Given the description of an element on the screen output the (x, y) to click on. 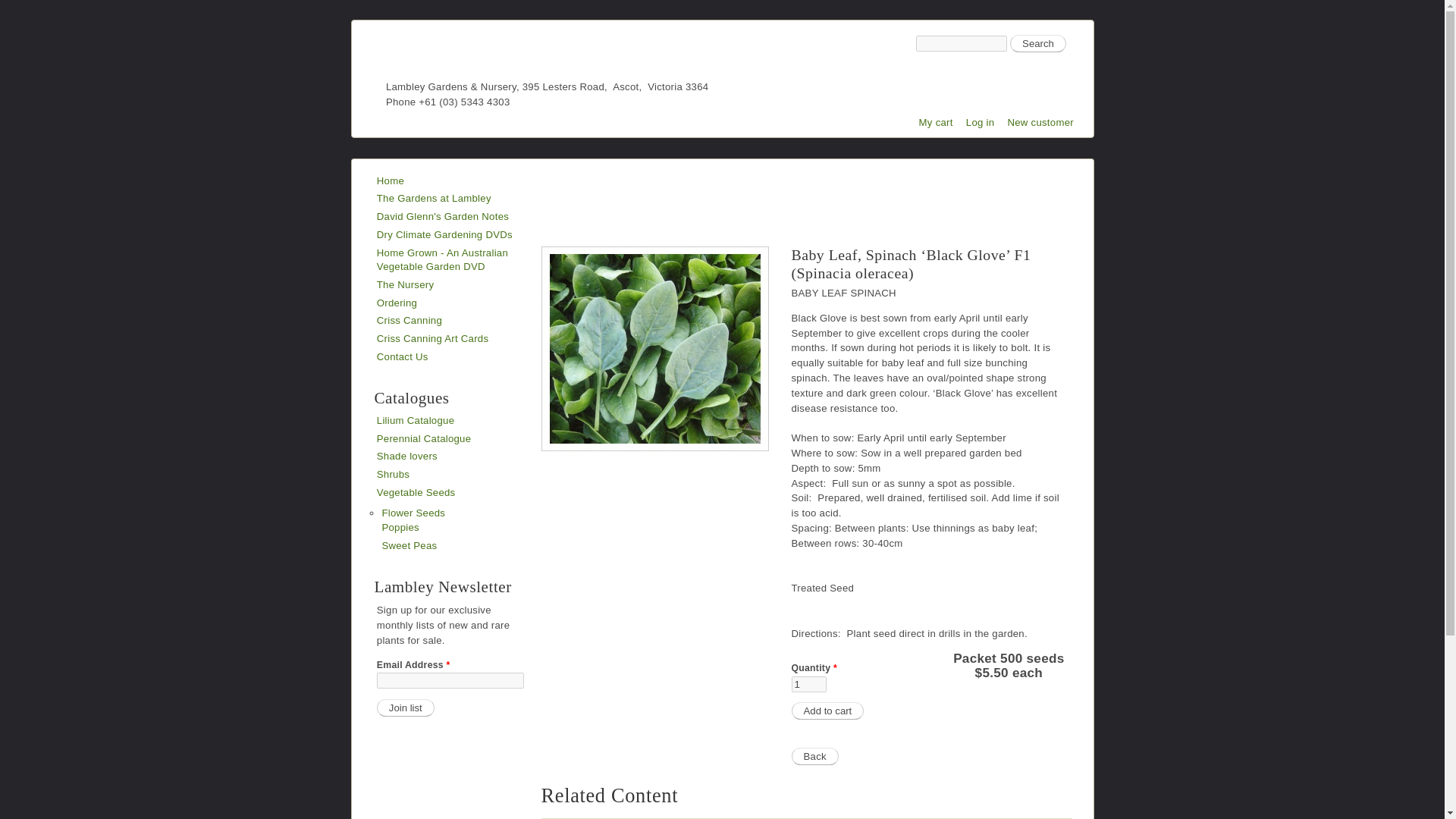
Dry Climate Gardening DVDs (444, 234)
Visit the flower seed catalogue (413, 512)
Perennial Catalogue (424, 438)
Skip to main content (694, 20)
Lilium Catalogue (415, 419)
Join list (405, 707)
Ordering (396, 302)
Search (1037, 43)
The Nursery (405, 284)
Shrubs (393, 473)
